Given the description of an element on the screen output the (x, y) to click on. 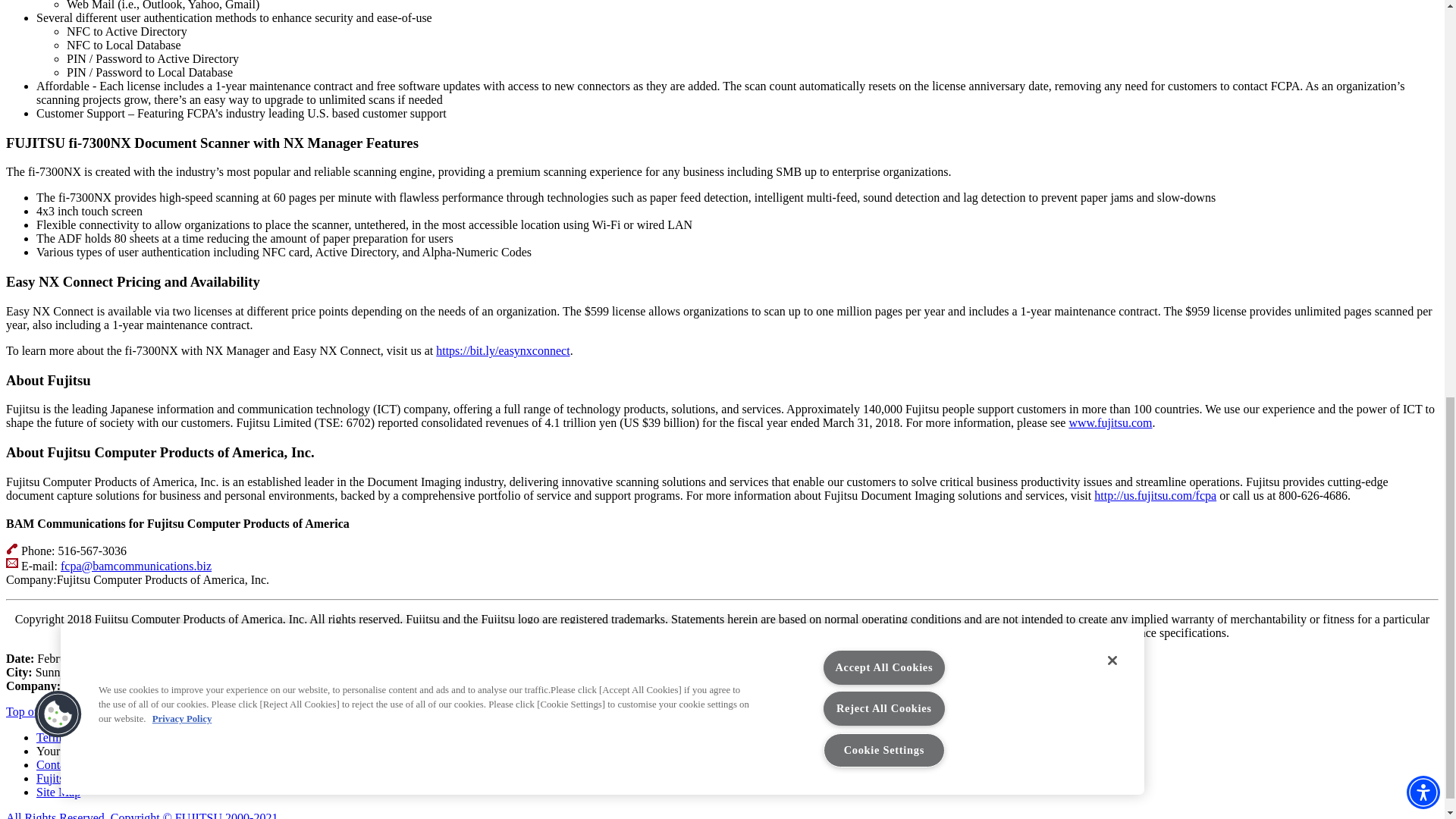
Top of Page (38, 710)
Terms of Use (68, 736)
www.fujitsu.com (1109, 422)
Fujitsu Web Accessibility Guidelines (125, 777)
Contact (55, 763)
Site Map (58, 790)
